Given the description of an element on the screen output the (x, y) to click on. 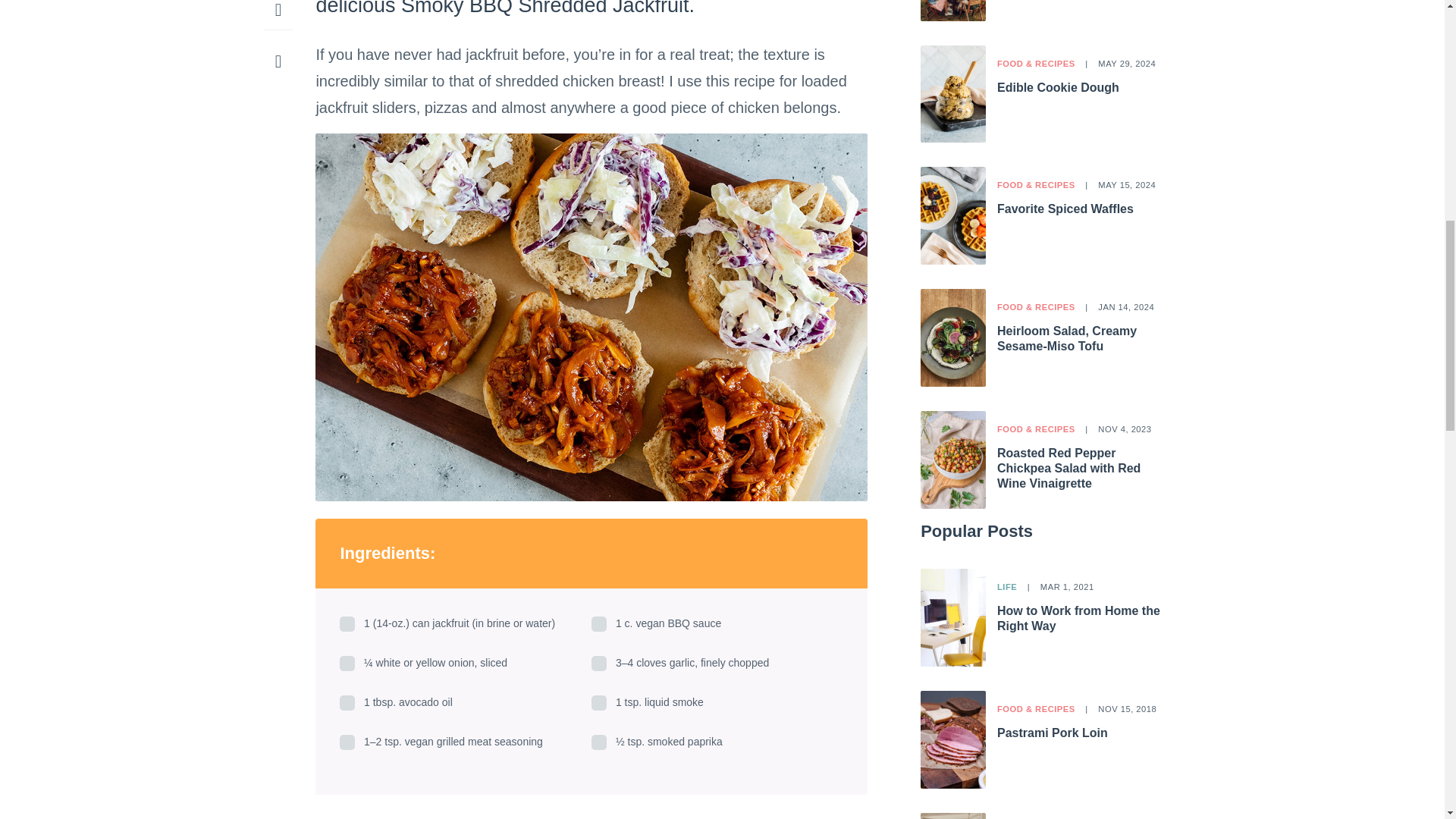
Edible Cookie Dough (1058, 87)
Favorite Spiced Waffles (1065, 208)
Pastrami Pork Loin (1052, 732)
More (278, 11)
Roasted Red Pepper Chickpea Salad with Red Wine Vinaigrette (1068, 467)
Heirloom Salad, Creamy Sesame-Miso Tofu (1067, 338)
How to Work from Home the Right Way (1078, 618)
